Given the description of an element on the screen output the (x, y) to click on. 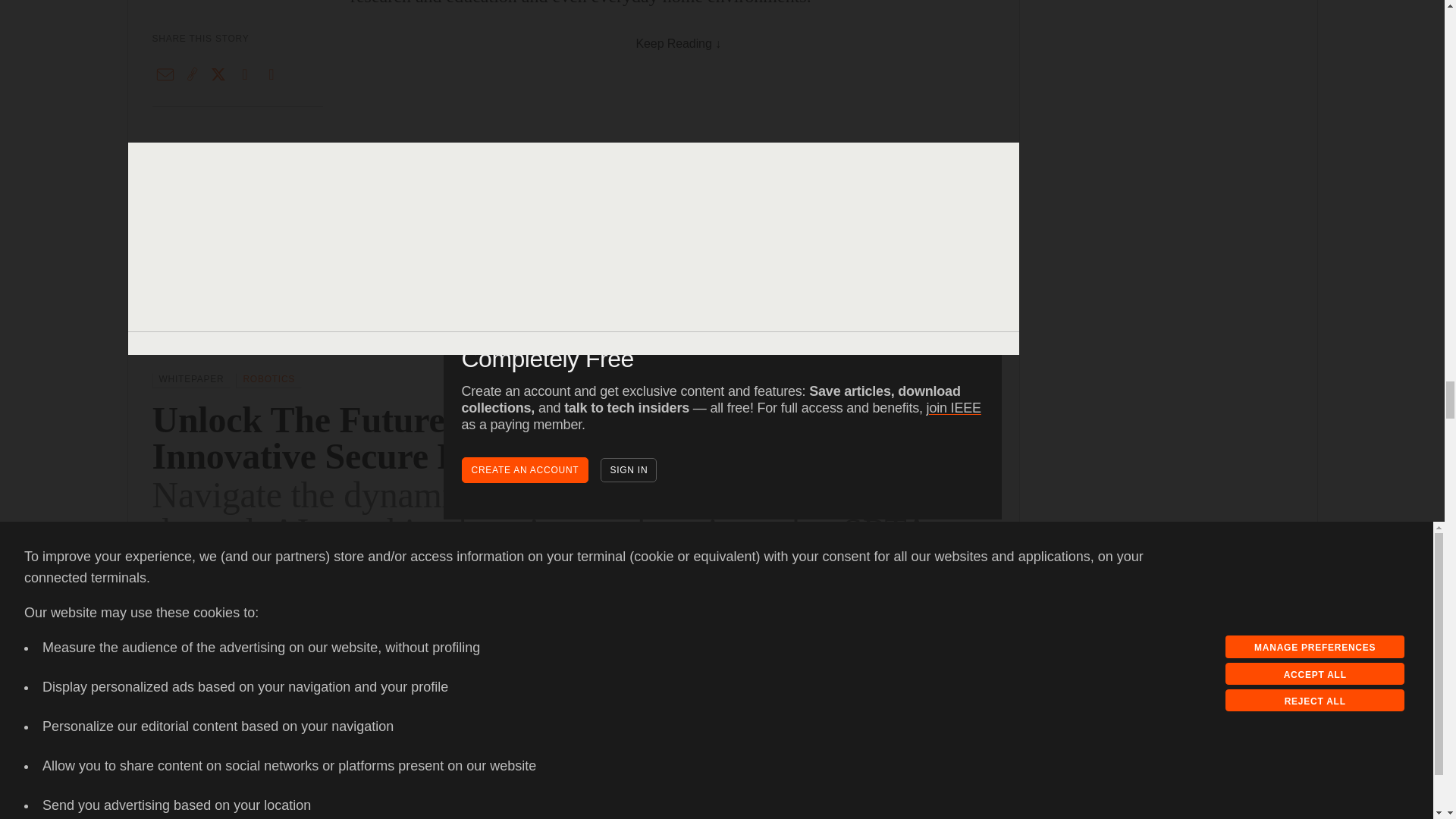
Copy this link to clipboard (192, 705)
